Given the description of an element on the screen output the (x, y) to click on. 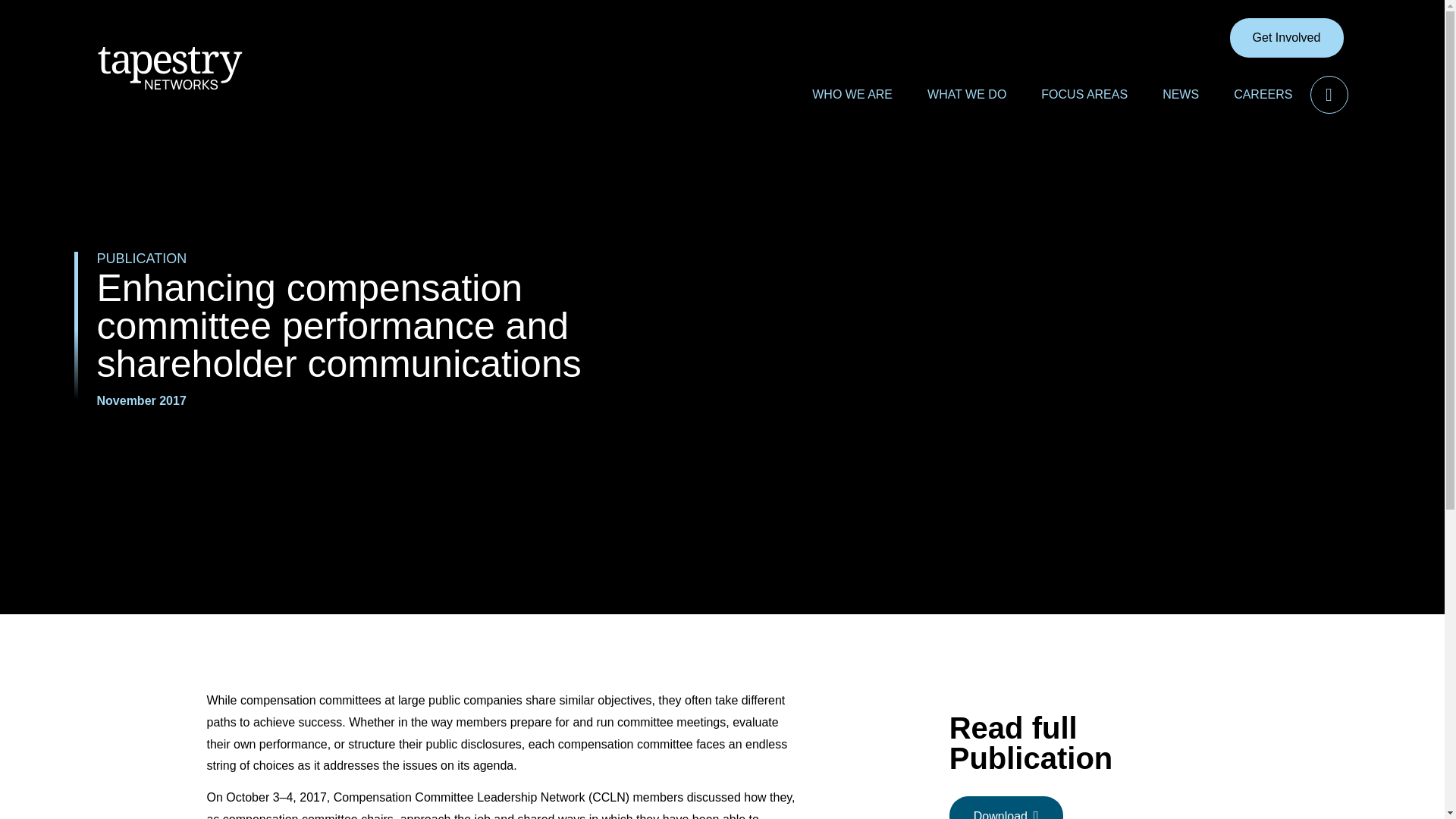
WHO WE ARE (852, 94)
Search (1329, 94)
search (1329, 94)
NEWS (1180, 94)
CAREERS (1262, 94)
FOCUS AREAS (1084, 94)
Get Involved (1286, 37)
Download (1005, 807)
WHAT WE DO (966, 94)
